Given the description of an element on the screen output the (x, y) to click on. 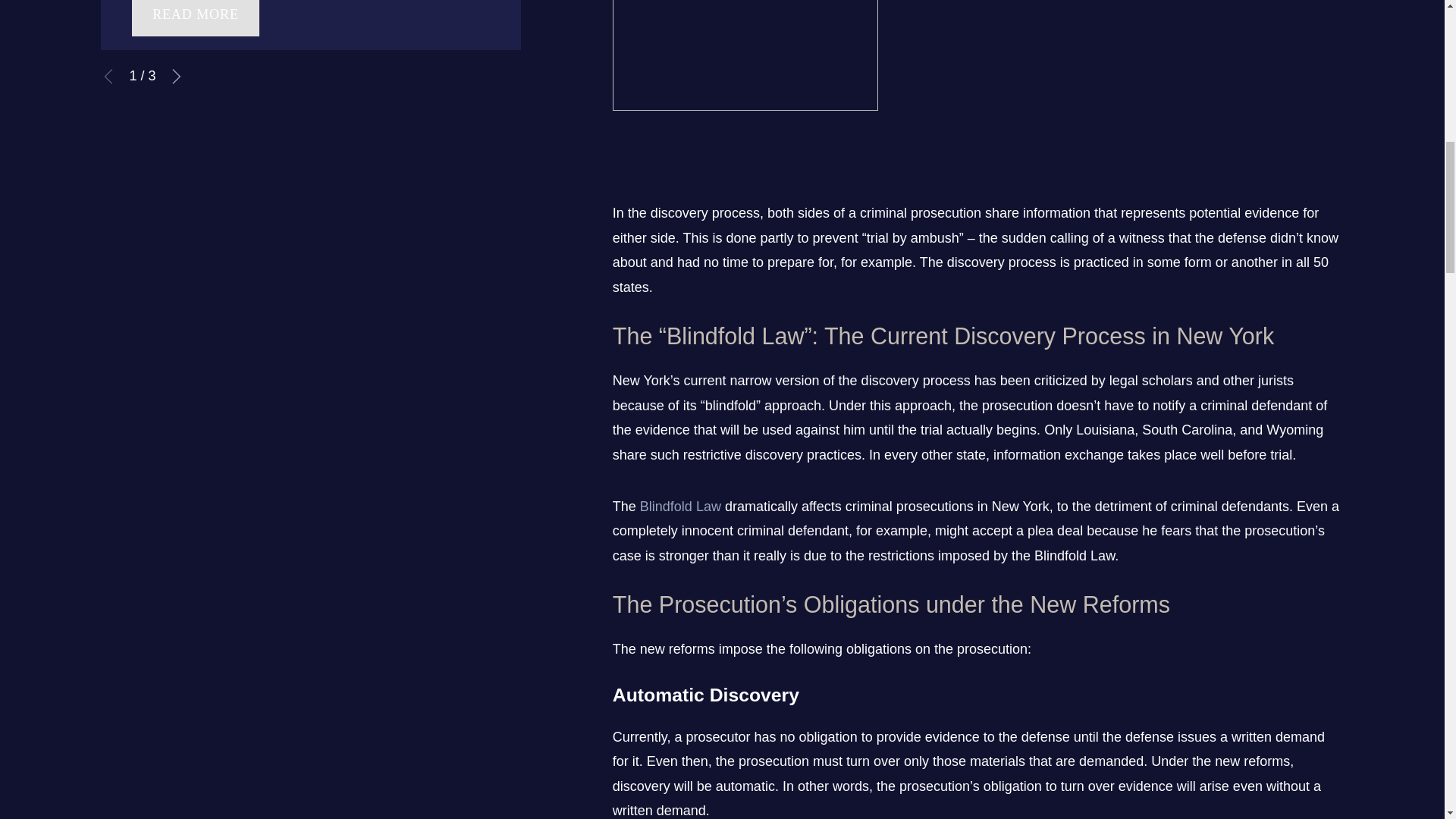
View previous item (108, 76)
View next item (176, 76)
Click and drag to move (618, 143)
